Given the description of an element on the screen output the (x, y) to click on. 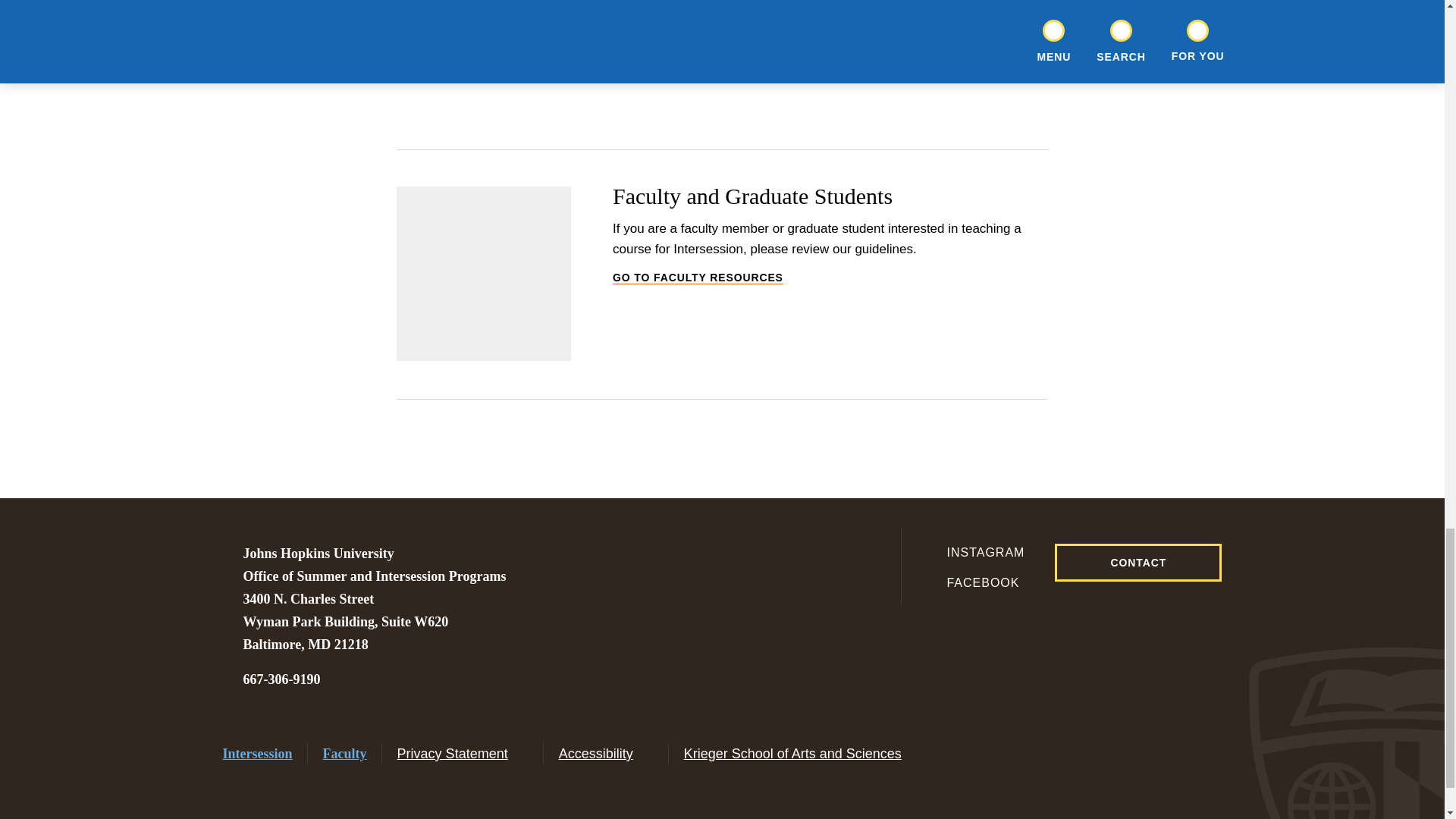
Faculty (344, 754)
Krieger School of Arts and Sciences (802, 754)
Intersession (257, 754)
Accessibility (606, 754)
INSTAGRAM (974, 552)
GO TO FACULTY RESOURCES (830, 277)
FACEBOOK (974, 583)
Privacy Statement (281, 679)
CONTACT (462, 754)
